Given the description of an element on the screen output the (x, y) to click on. 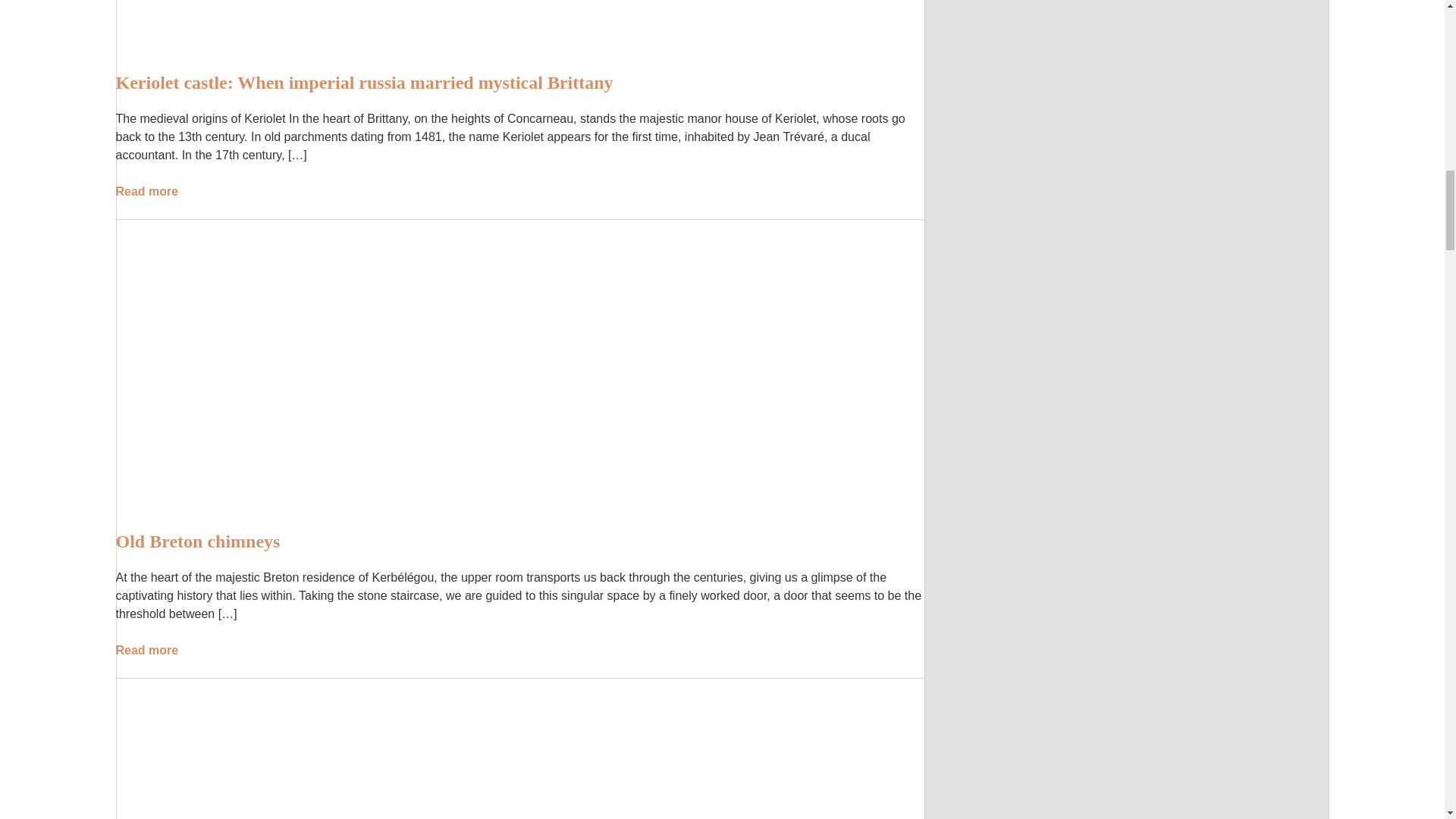
Read more (147, 191)
